Given the description of an element on the screen output the (x, y) to click on. 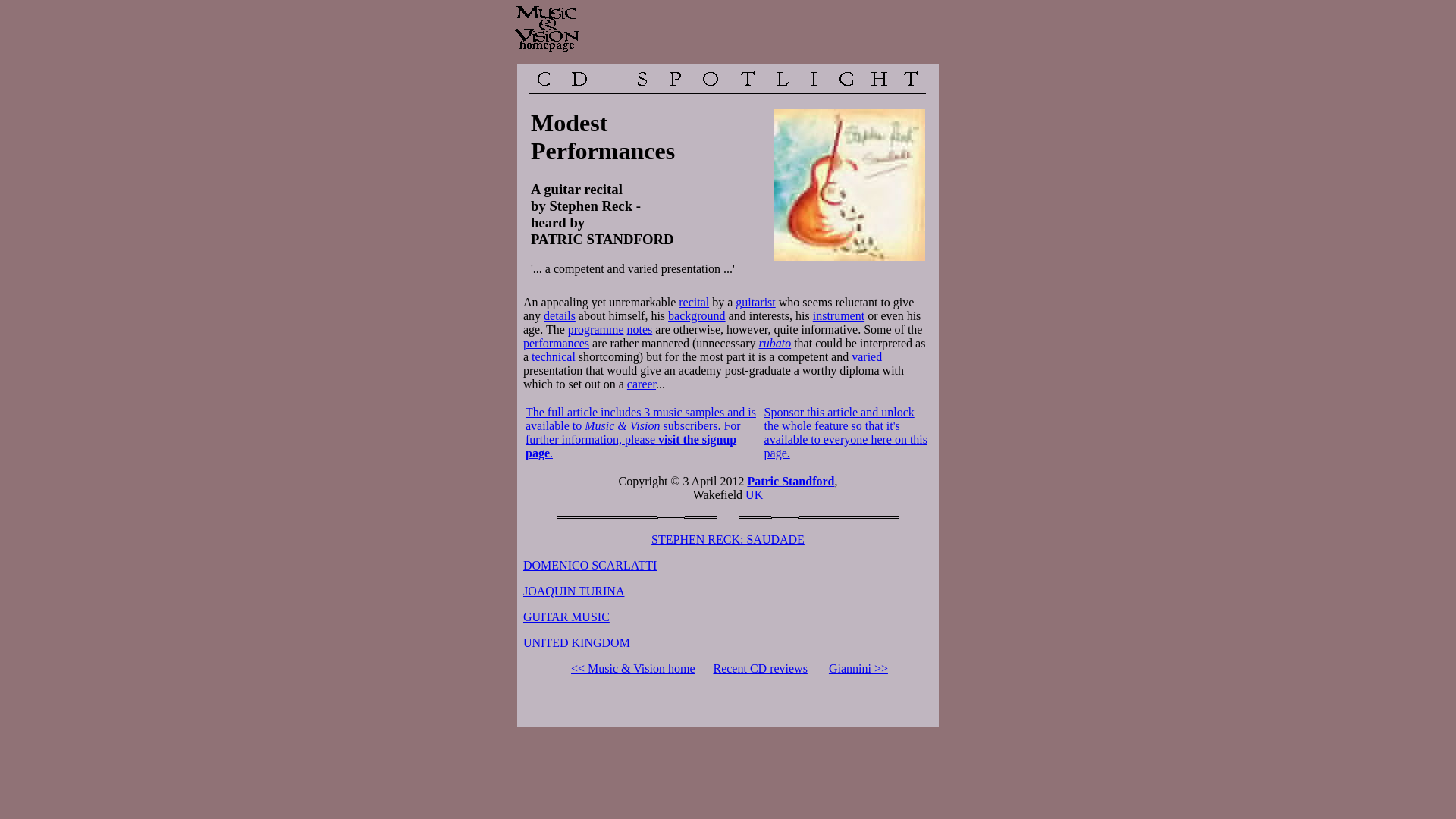
JOAQUIN TURINA (573, 590)
instrument (838, 315)
DOMENICO SCARLATTI (589, 564)
guitarist (754, 301)
details (559, 315)
STEPHEN RECK: SAUDADE (727, 539)
technical (553, 356)
GUITAR MUSIC (566, 616)
programme (595, 328)
